Given the description of an element on the screen output the (x, y) to click on. 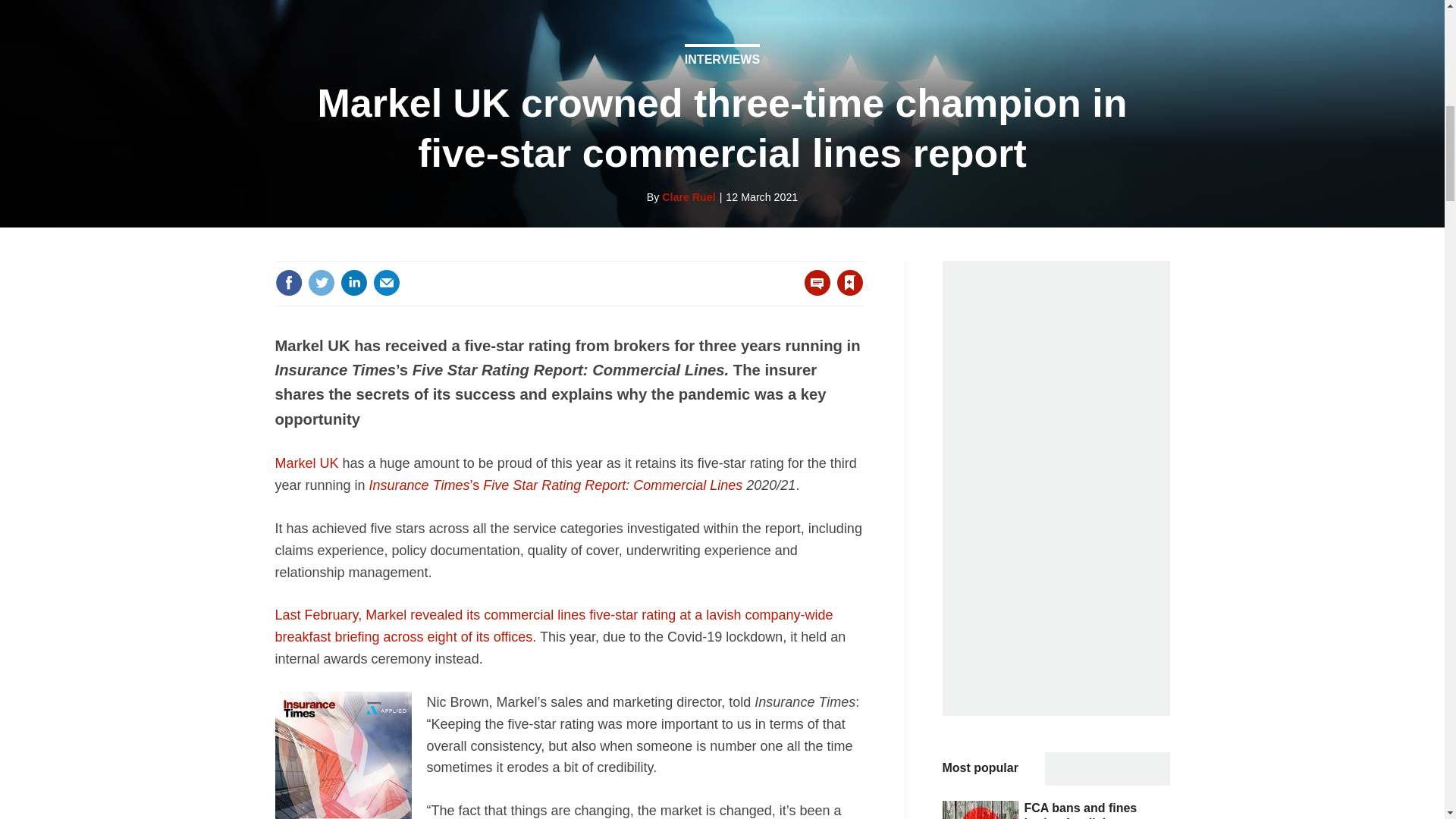
Share this on Twitter (320, 282)
Email this article (386, 282)
Share this on Linked in (352, 282)
Share this on Facebook (288, 282)
No comments (812, 291)
